Given the description of an element on the screen output the (x, y) to click on. 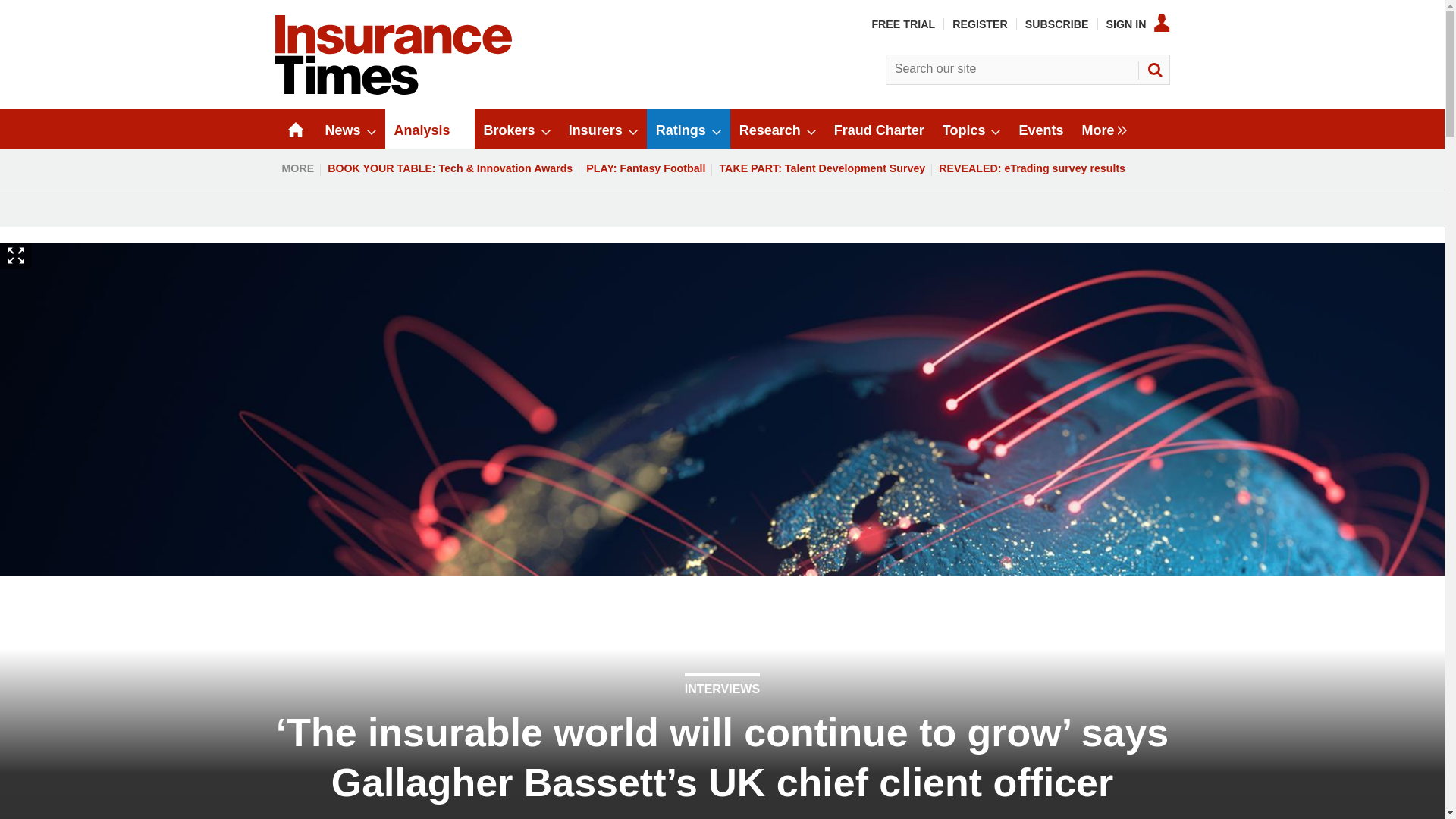
TAKE PART: Talent Development Survey (821, 168)
SEARCH (1153, 69)
REGISTER (979, 24)
PLAY: Fantasy Football (645, 168)
SIGN IN (1138, 24)
SUBSCRIBE (1057, 24)
Insert Logo text (393, 90)
REVEALED: eTrading survey results (1031, 168)
FREE TRIAL (902, 24)
